Given the description of an element on the screen output the (x, y) to click on. 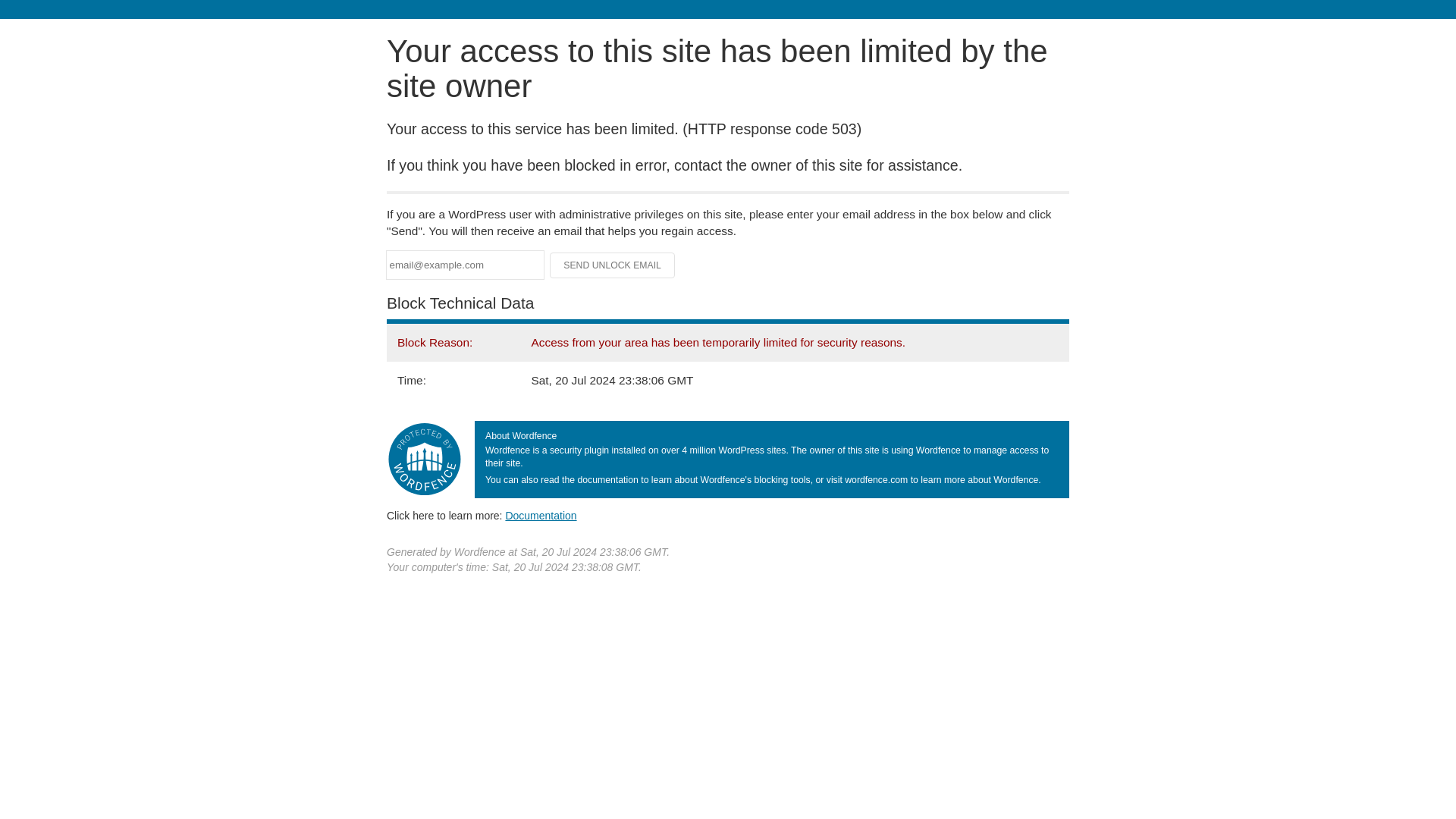
Send Unlock Email (612, 265)
Send Unlock Email (612, 265)
Documentation (540, 515)
